Given the description of an element on the screen output the (x, y) to click on. 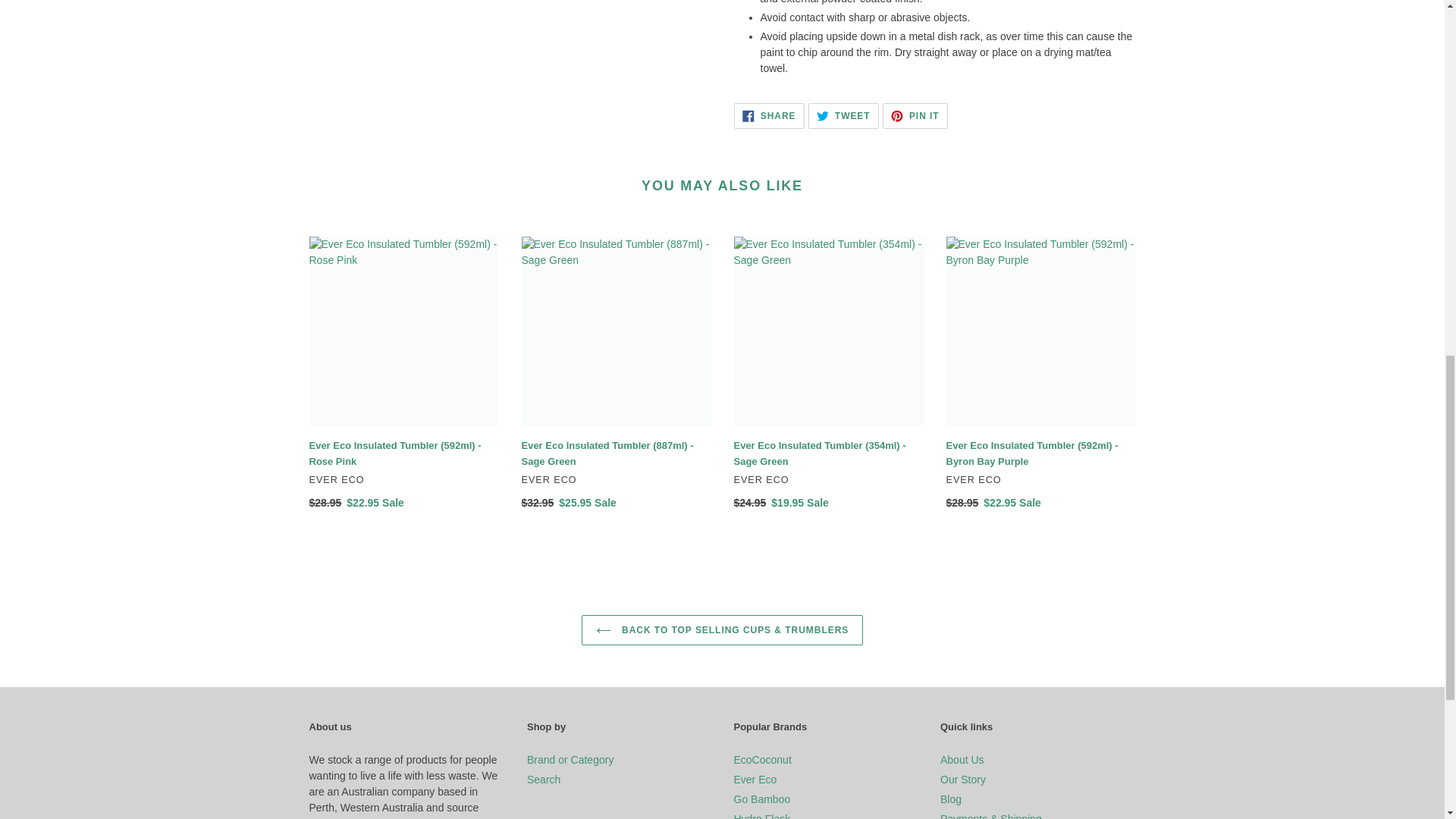
Brand or Category (914, 115)
Search (769, 115)
